Given the description of an element on the screen output the (x, y) to click on. 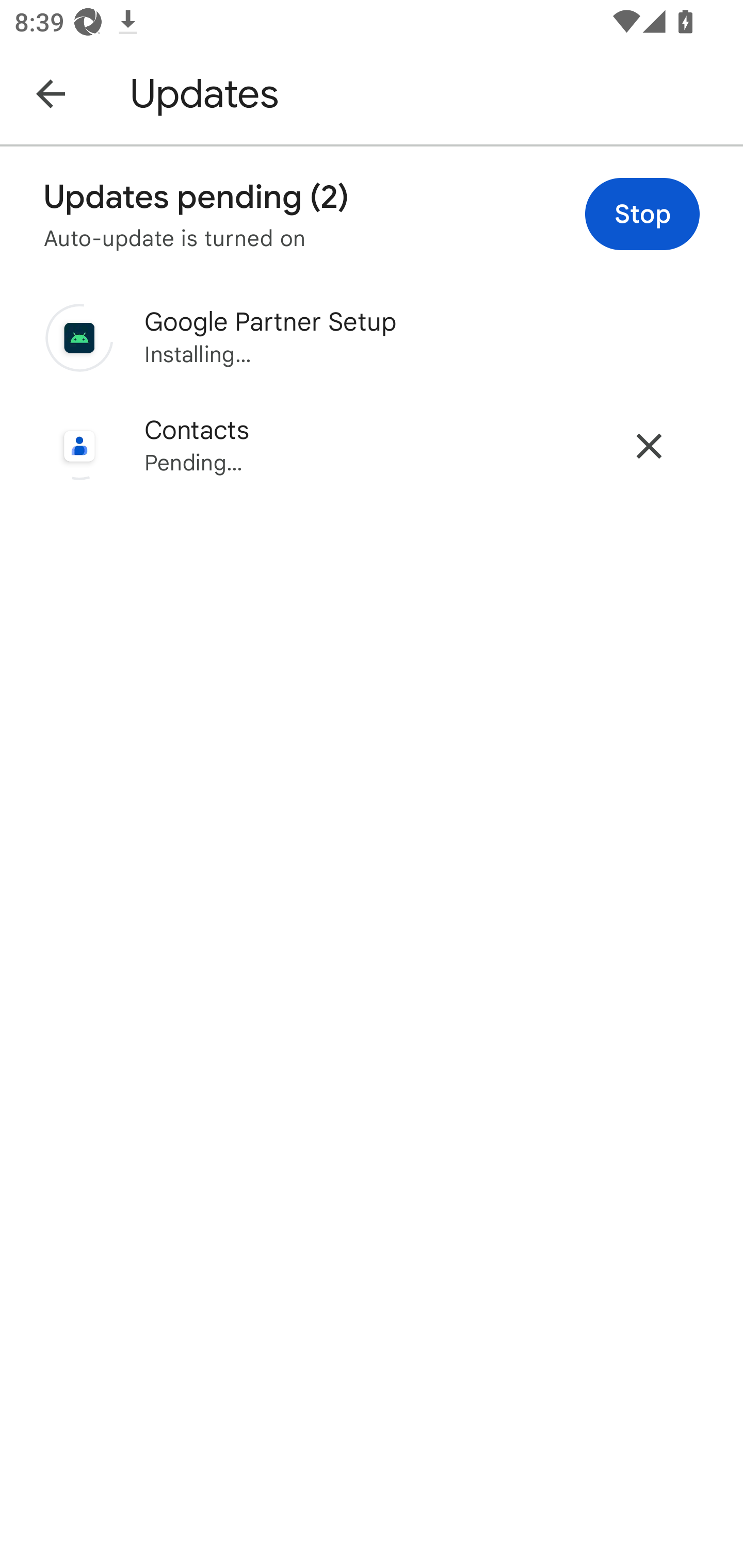
Navigate up (50, 92)
Stop (642, 213)
Contacts App: Contacts Pending…   Cancel (371, 446)
Cancel (648, 445)
